Given the description of an element on the screen output the (x, y) to click on. 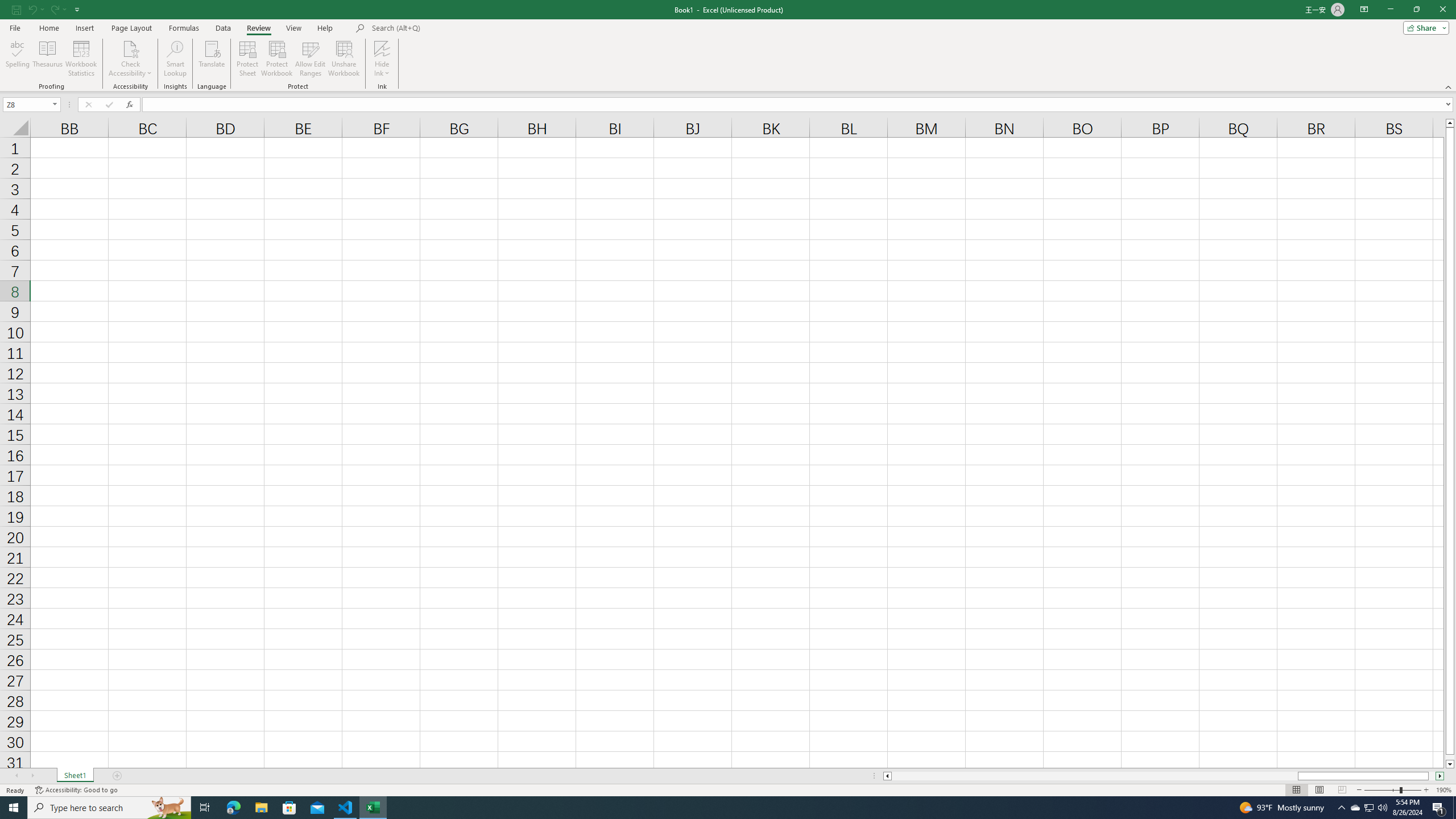
Check Accessibility (129, 48)
Page left (1094, 775)
